Given the description of an element on the screen output the (x, y) to click on. 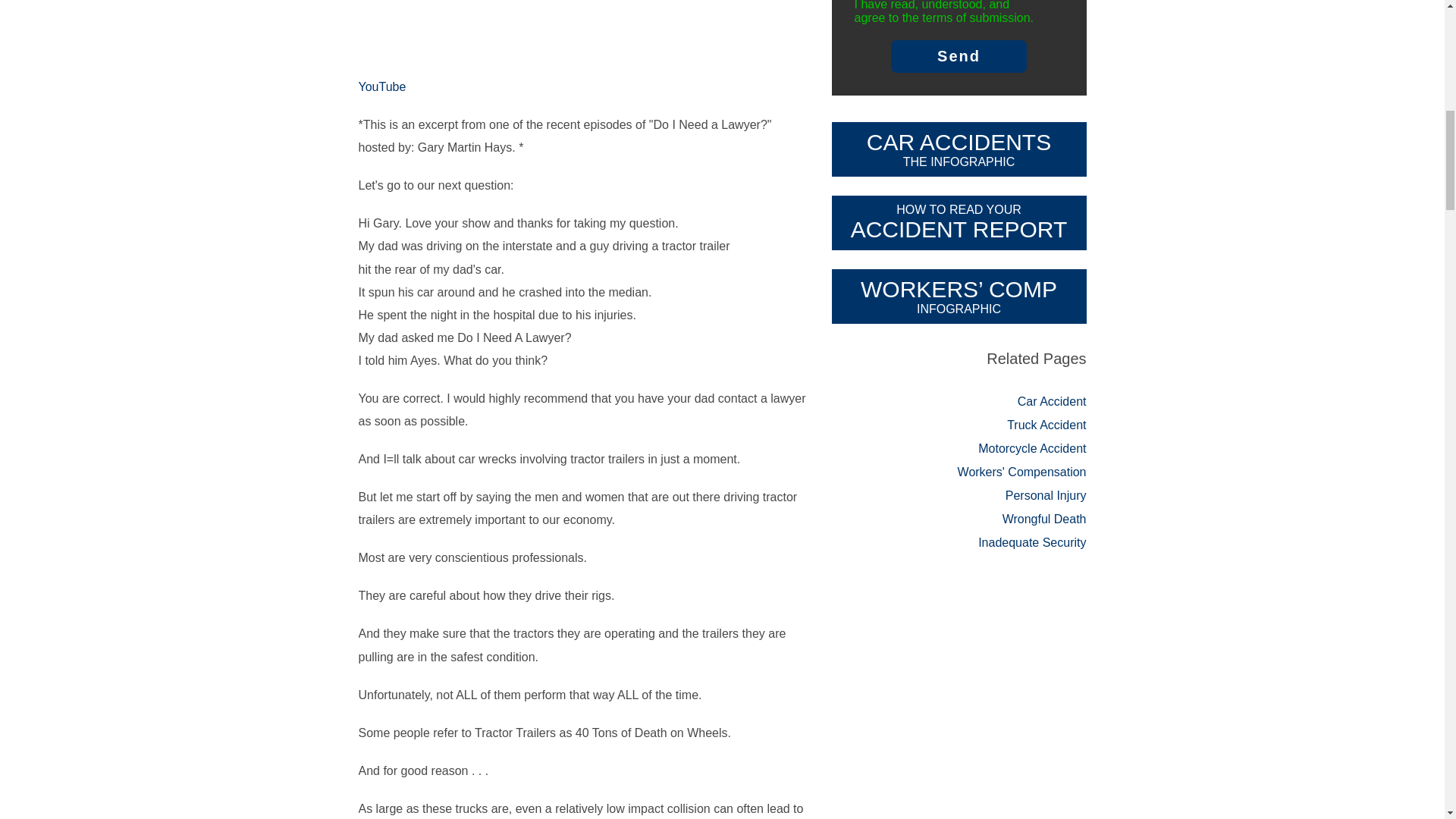
Send (958, 56)
